Given the description of an element on the screen output the (x, y) to click on. 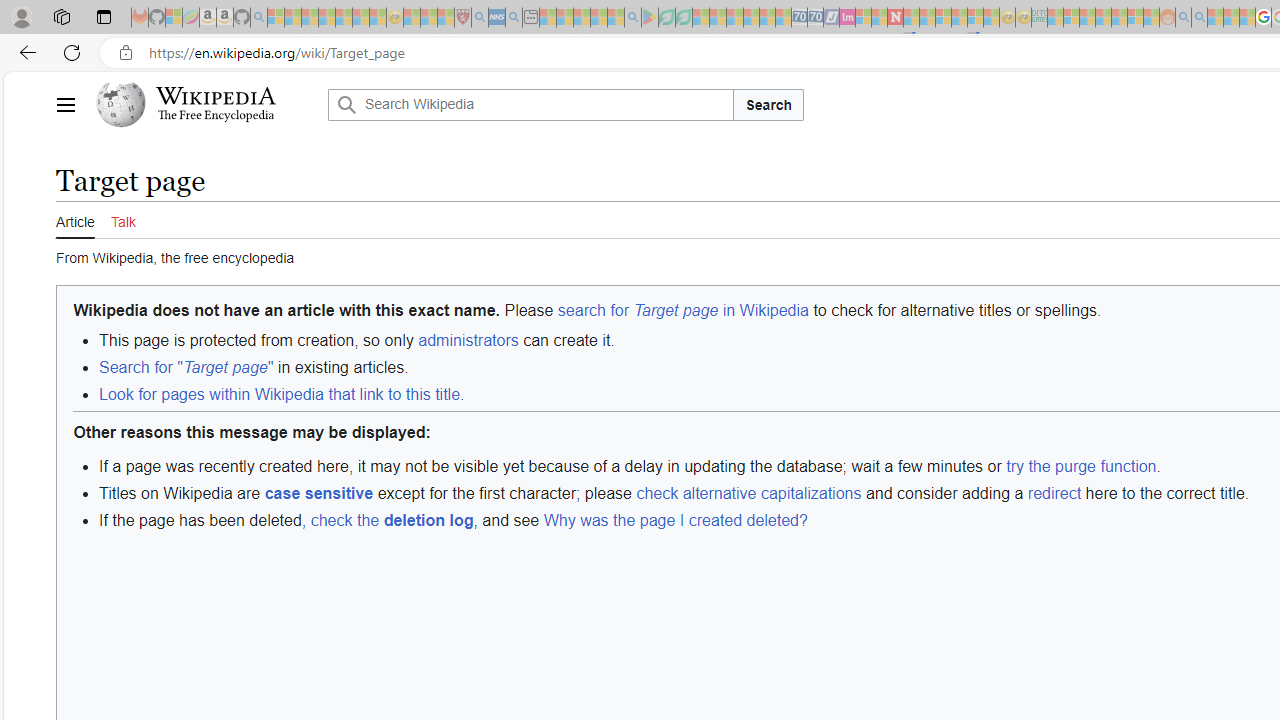
Main menu (65, 104)
check alternative capitalizations (748, 492)
